Given the description of an element on the screen output the (x, y) to click on. 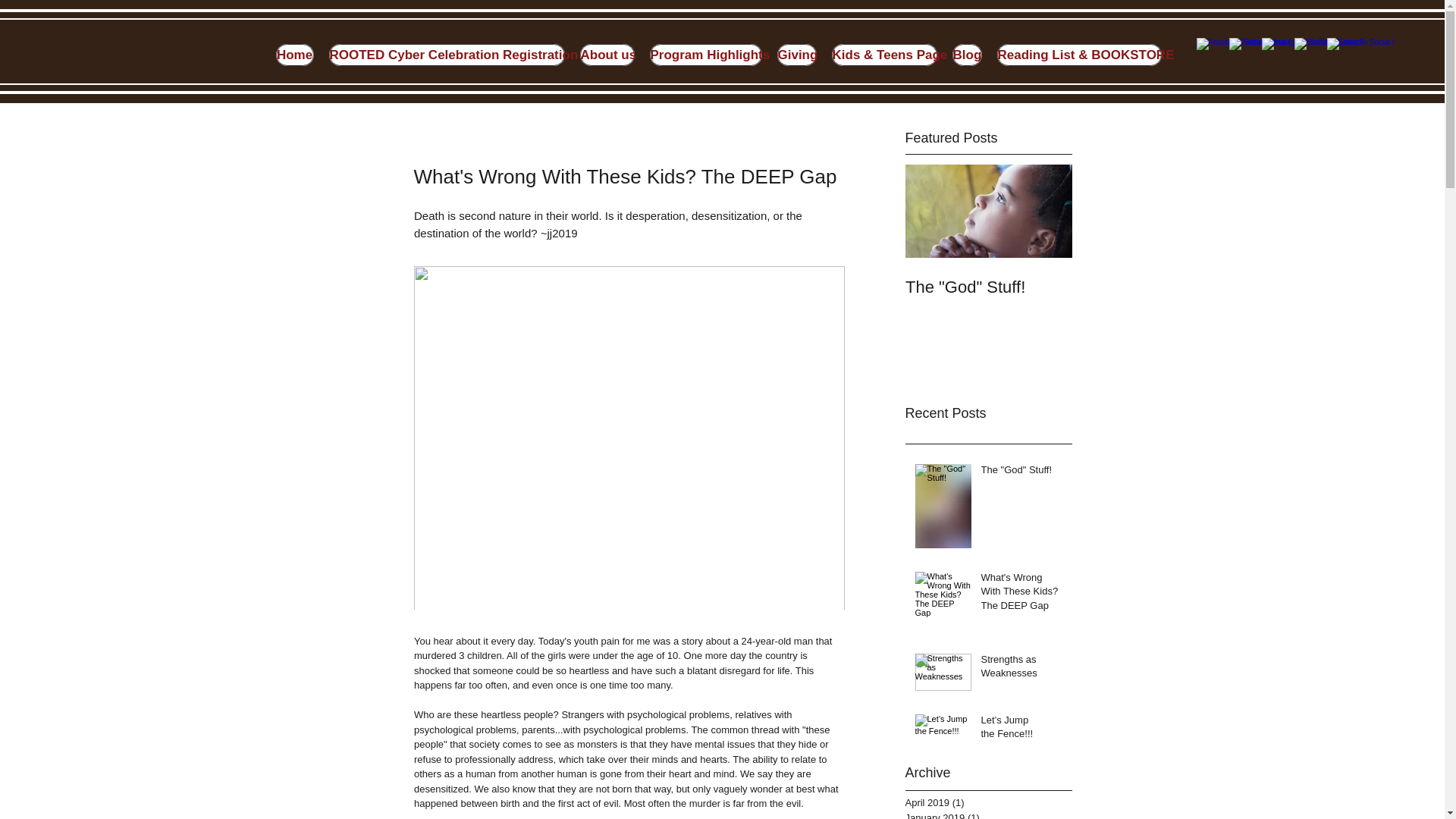
Strengths as Weaknesses (1021, 669)
Giving (795, 55)
Blog (966, 55)
Program Highlights (705, 55)
What's Wrong With These Kids? The DEEP Gap (1021, 594)
ROOTED Cyber Celebration Registration (446, 55)
Home (295, 55)
The "God" Stuff! (1021, 473)
About us (606, 55)
The "God" Stuff! (988, 287)
